Given the description of an element on the screen output the (x, y) to click on. 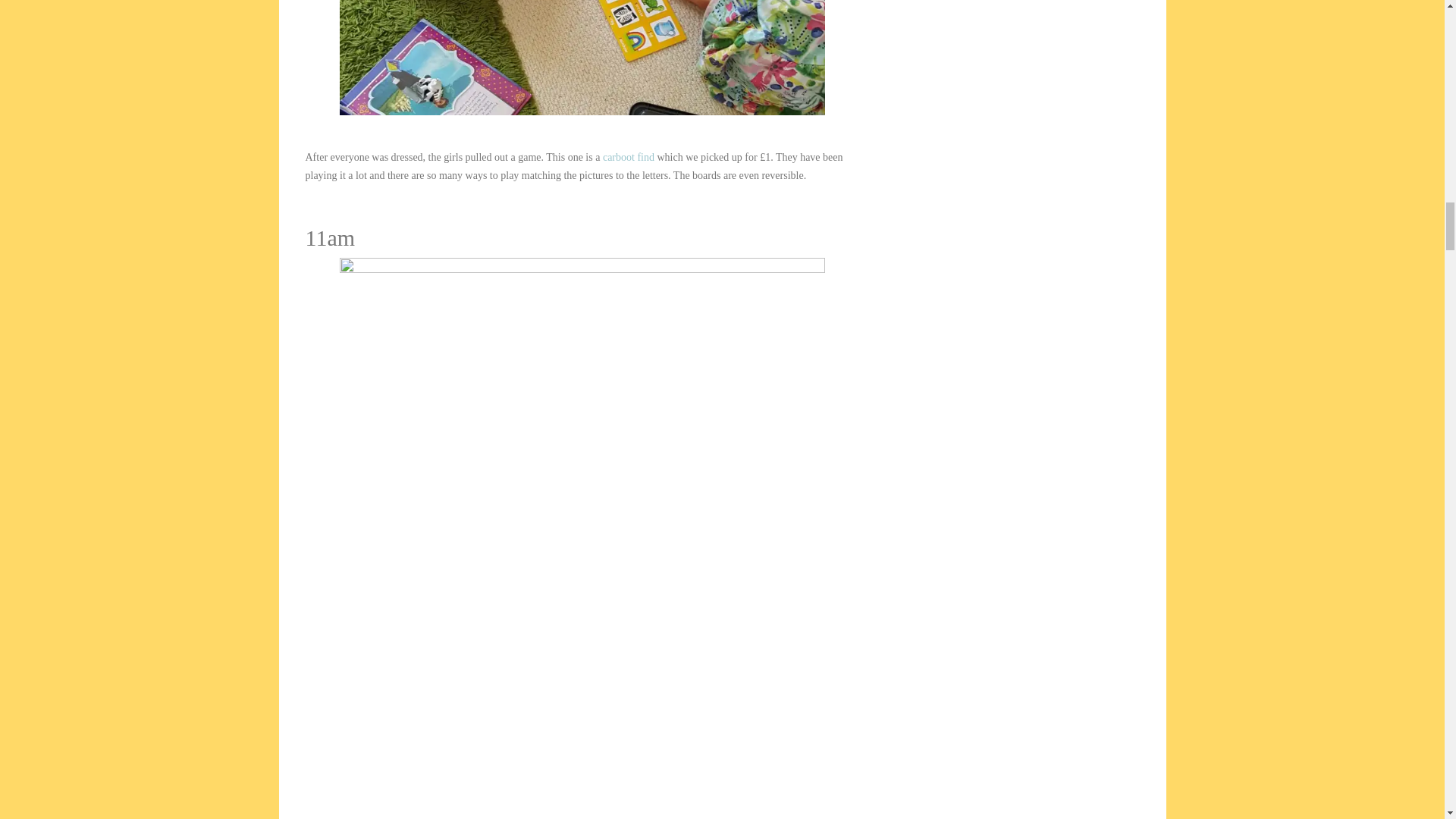
carboot find (627, 156)
